Given the description of an element on the screen output the (x, y) to click on. 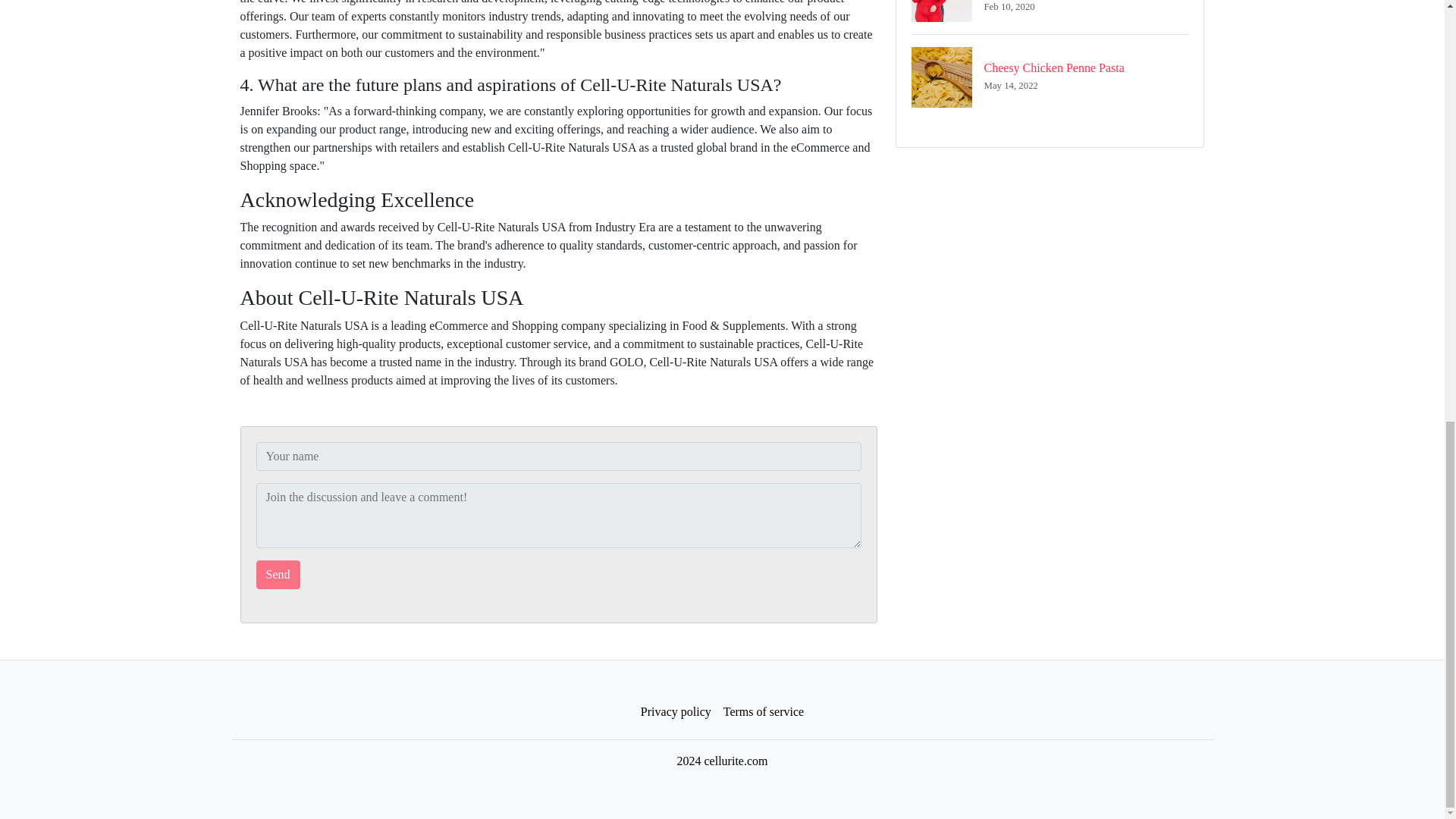
Send (277, 574)
Send (1050, 17)
Privacy policy (1050, 76)
Terms of service (277, 574)
